Given the description of an element on the screen output the (x, y) to click on. 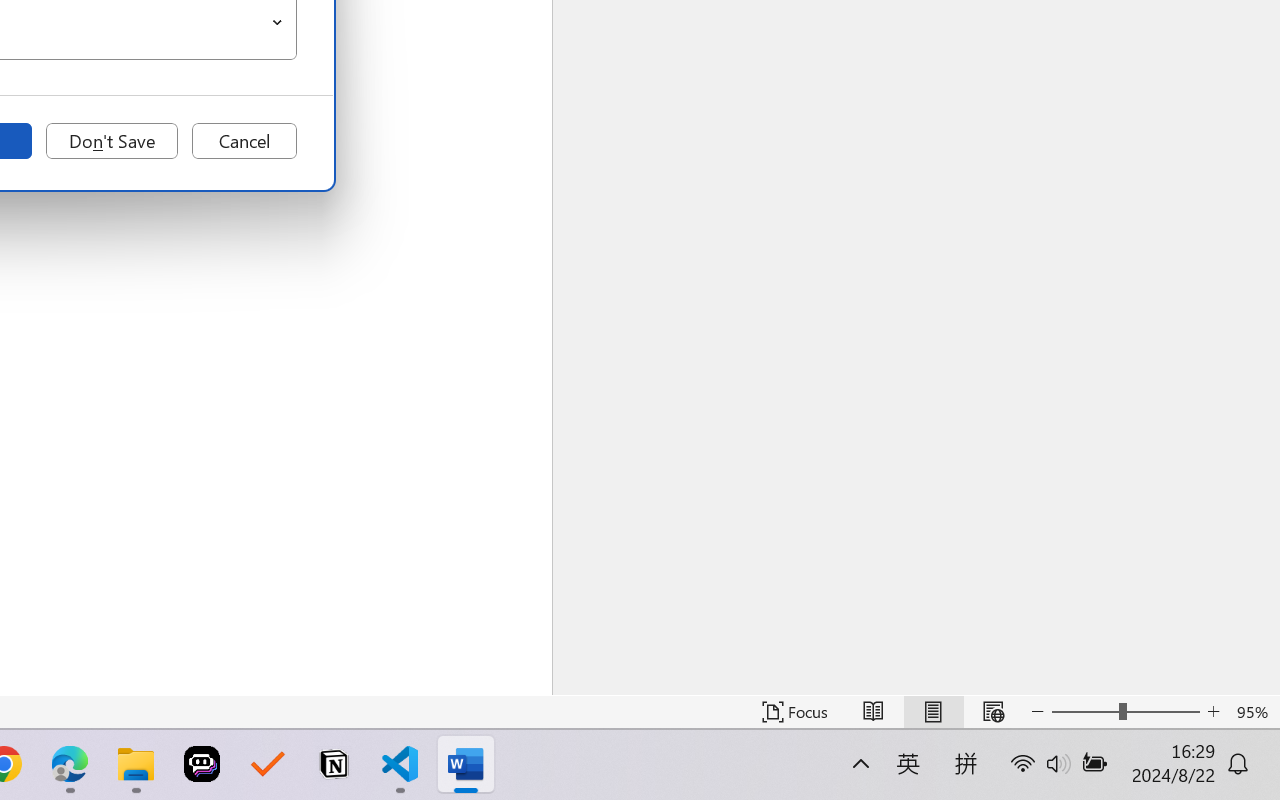
Notion (333, 764)
Don't Save (111, 141)
Zoom 95% (1253, 712)
Cancel (244, 141)
